Given the description of an element on the screen output the (x, y) to click on. 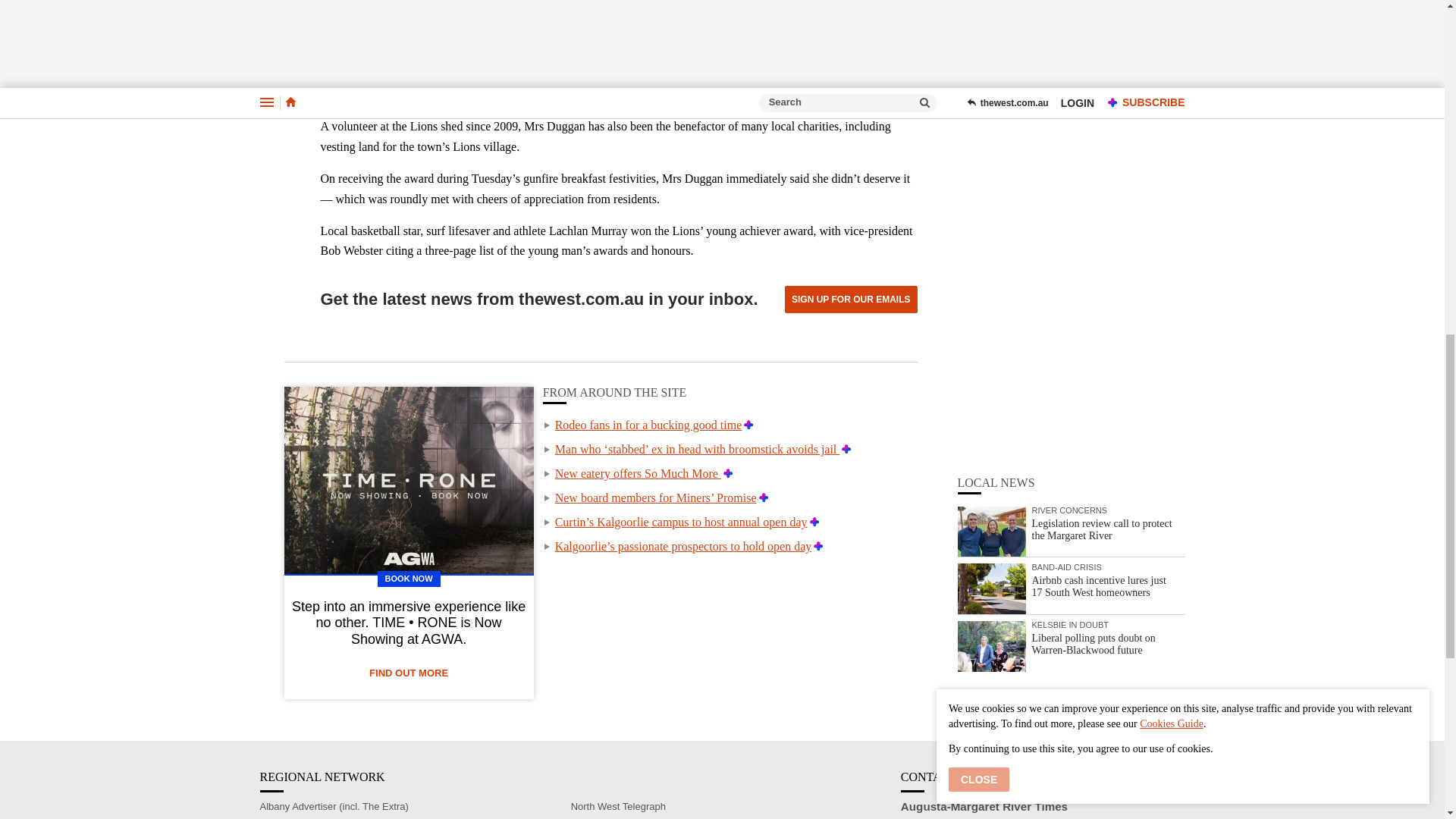
Premium (748, 424)
Premium (818, 545)
Premium (846, 449)
Premium (814, 521)
Premium (728, 472)
Premium (763, 497)
